Given the description of an element on the screen output the (x, y) to click on. 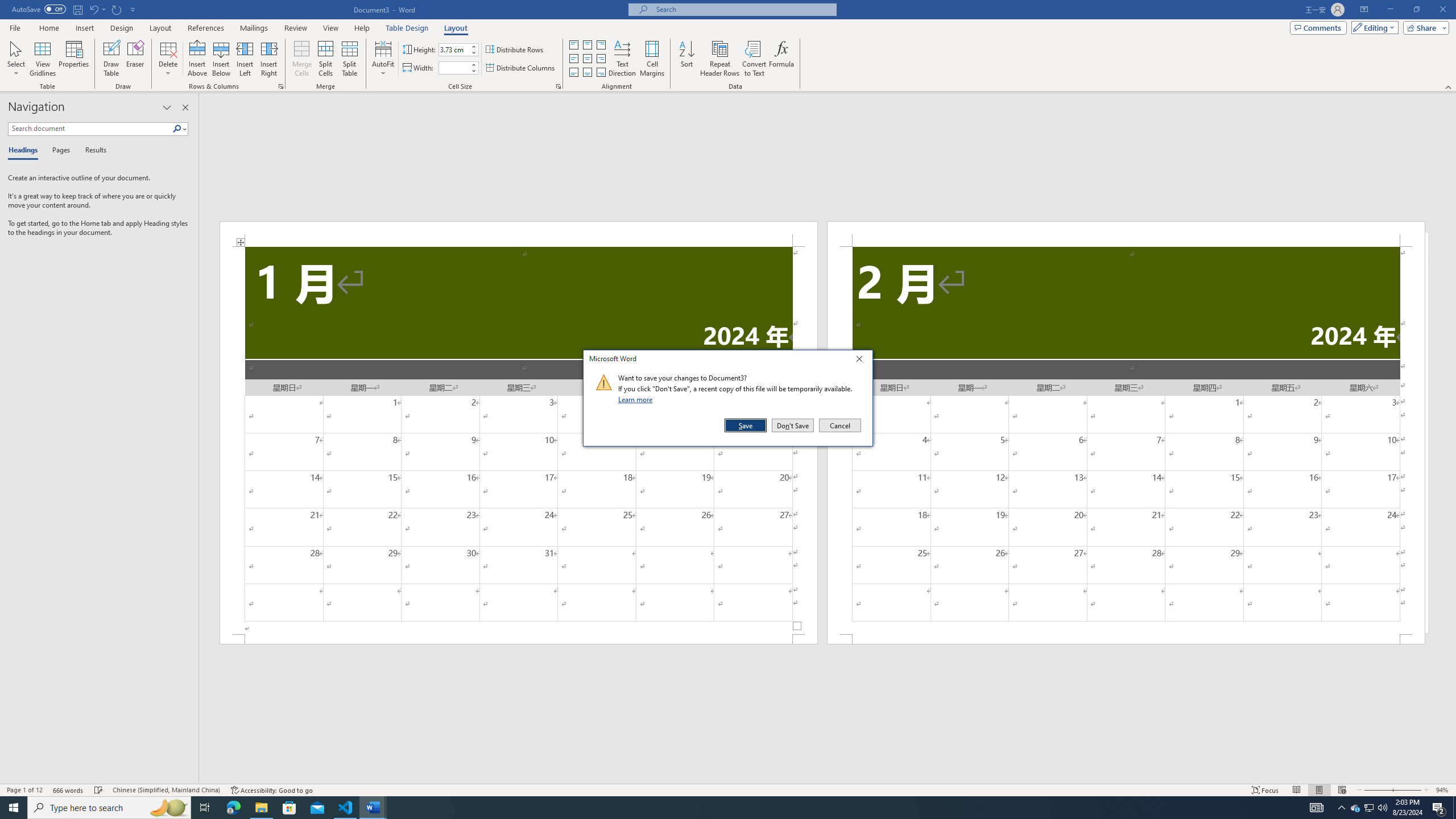
Page Number Page 1 of 12 (24, 790)
Align Bottom Right (601, 72)
System (6, 6)
Microsoft Store (289, 807)
Delete (167, 58)
Accessibility Checker Accessibility: Good to go (271, 790)
Header -Section 1- (1355, 807)
Close pane (518, 233)
Eraser (185, 107)
Comments (135, 58)
File Explorer - 1 running window (1318, 27)
System (261, 807)
Properties... (6, 6)
